Given the description of an element on the screen output the (x, y) to click on. 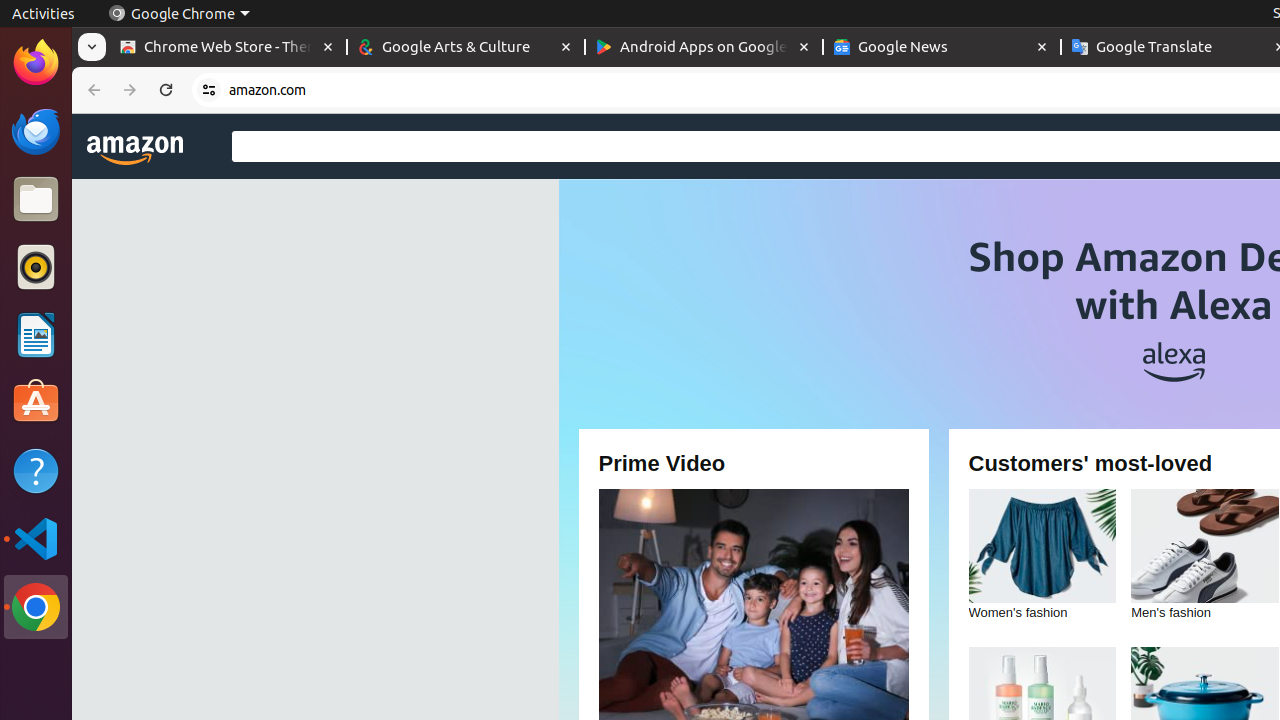
Android Apps on Google Play - Memory usage - 60.6 MB Element type: page-tab (704, 47)
Google News - Memory usage - 49.2 MB Element type: page-tab (942, 47)
Firefox Web Browser Element type: push-button (36, 63)
Ubuntu Software Element type: push-button (36, 402)
Files Element type: push-button (36, 199)
